Given the description of an element on the screen output the (x, y) to click on. 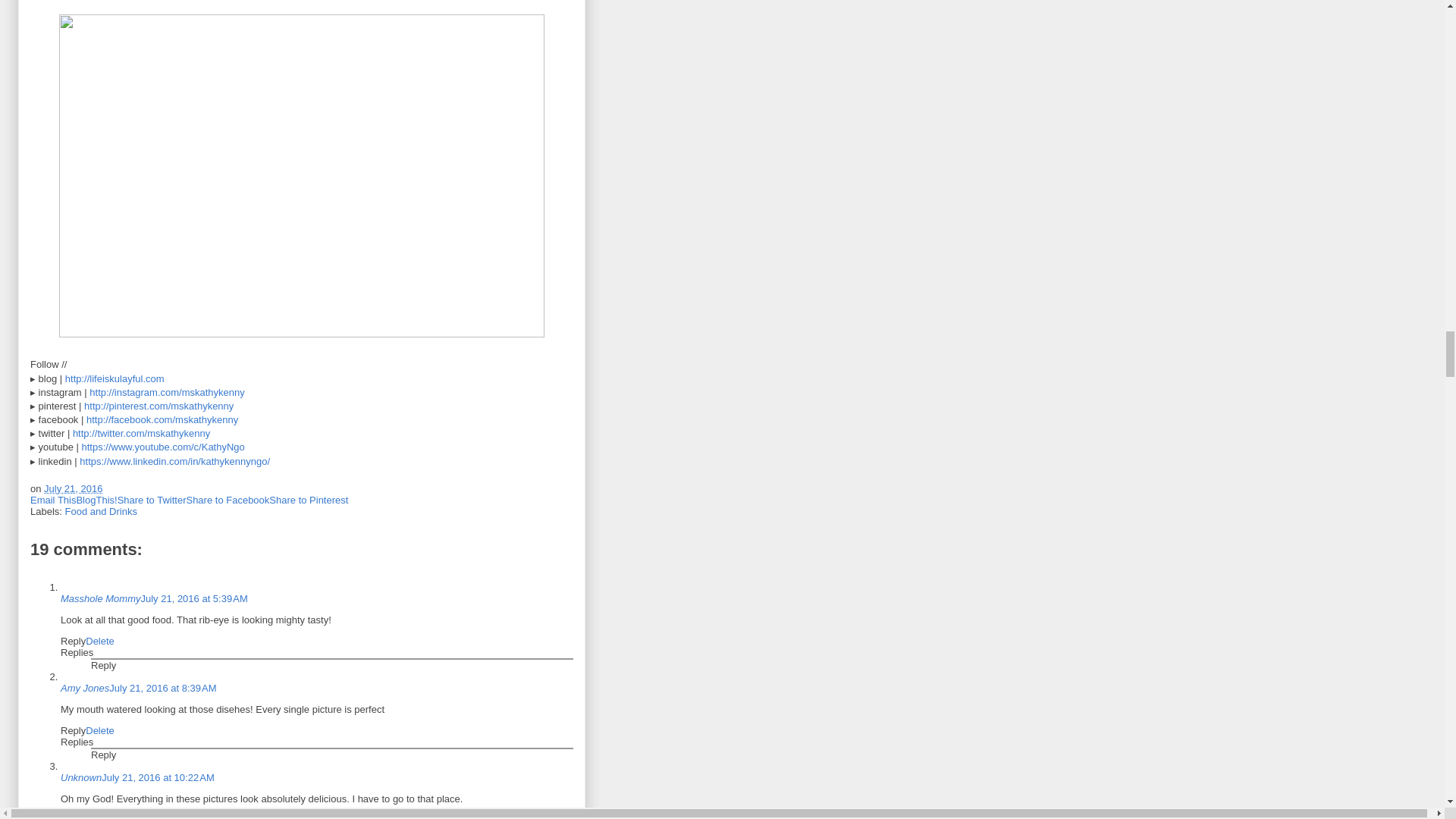
Replies (77, 652)
Masshole Mommy (100, 598)
July 21, 2016 (72, 488)
permanent link (72, 488)
Email This (52, 500)
Share to Pinterest (308, 500)
Delete (100, 641)
Email This (52, 500)
Food and Drinks (100, 511)
BlogThis! (95, 500)
Share to Twitter (151, 500)
Share to Pinterest (308, 500)
Reply (73, 641)
Share to Facebook (227, 500)
